Given the description of an element on the screen output the (x, y) to click on. 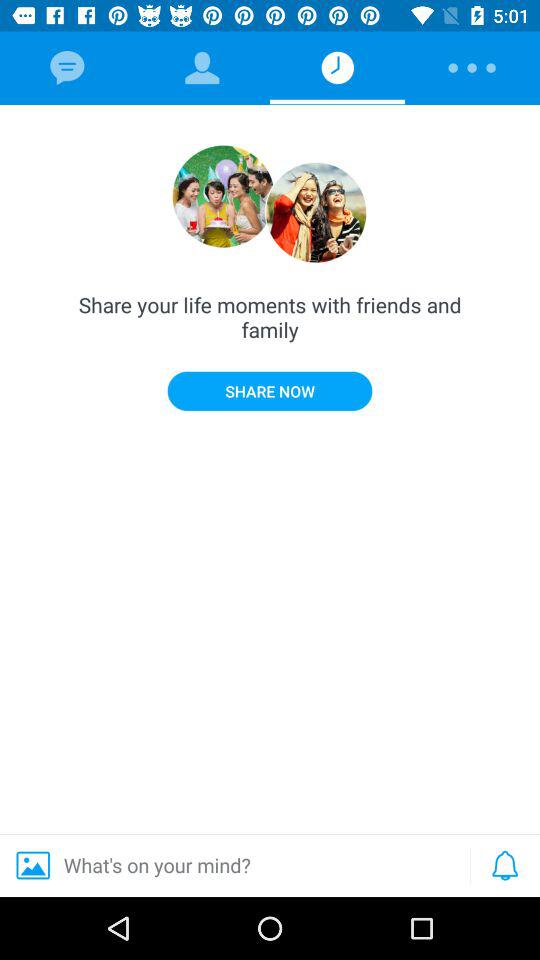
open icon below the share your life icon (269, 390)
